Given the description of an element on the screen output the (x, y) to click on. 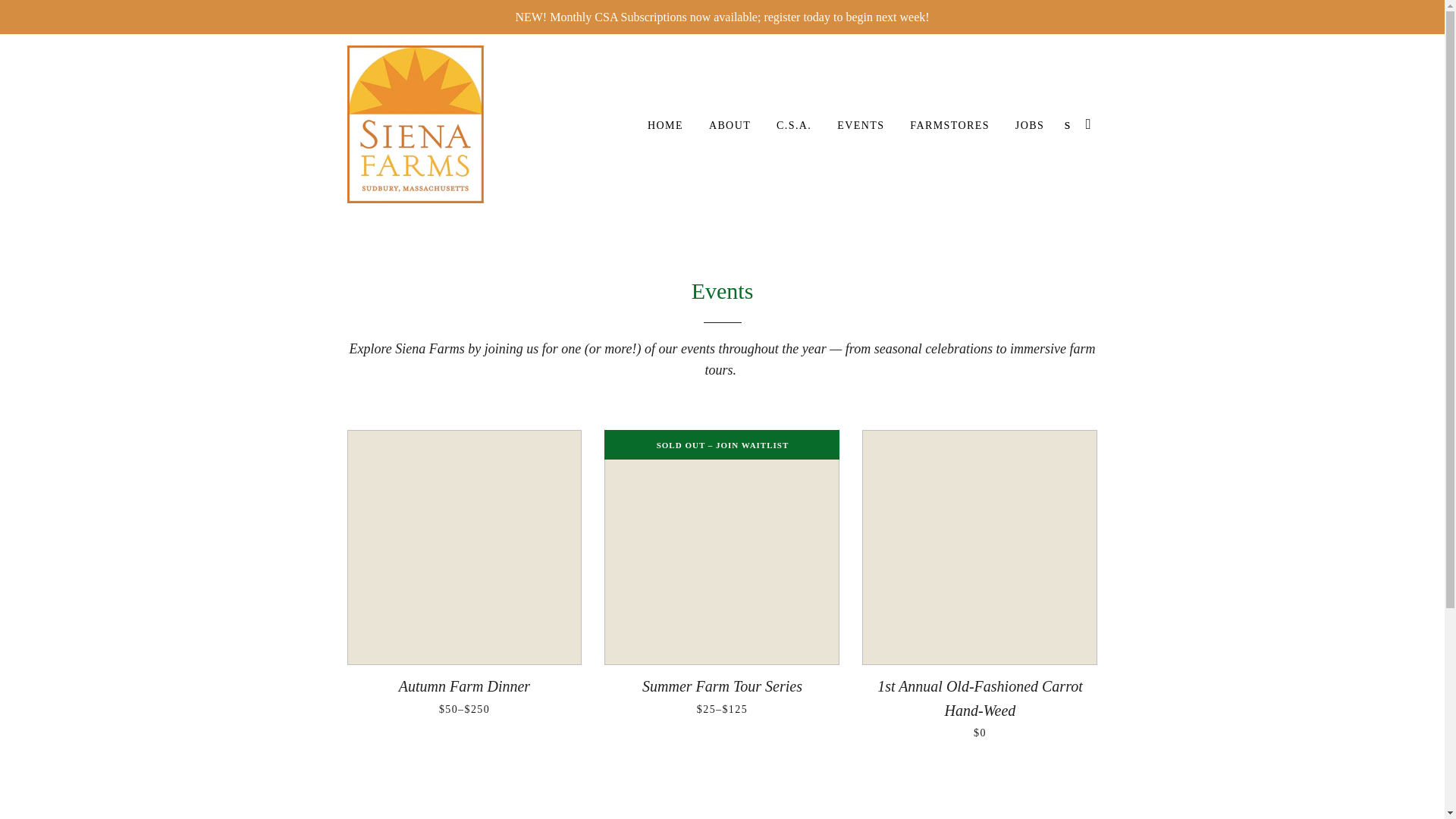
CART (1088, 124)
HOME (665, 125)
C.S.A. (793, 125)
JOBS (1029, 125)
ABOUT (729, 125)
EVENTS (860, 125)
FARMSTORES (949, 125)
SEARCH (1067, 124)
